Given the description of an element on the screen output the (x, y) to click on. 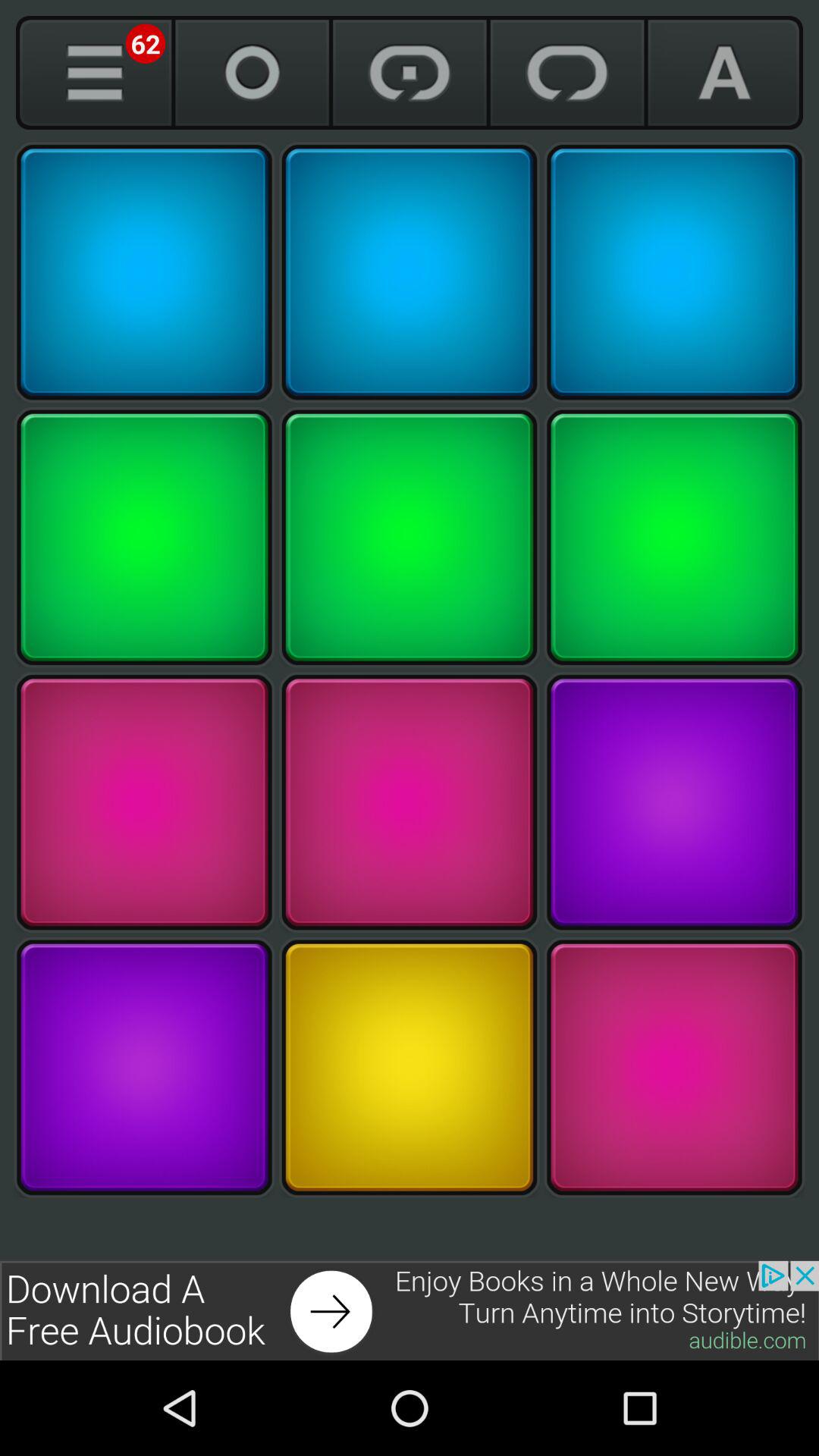
press for drumbeat (409, 1067)
